Given the description of an element on the screen output the (x, y) to click on. 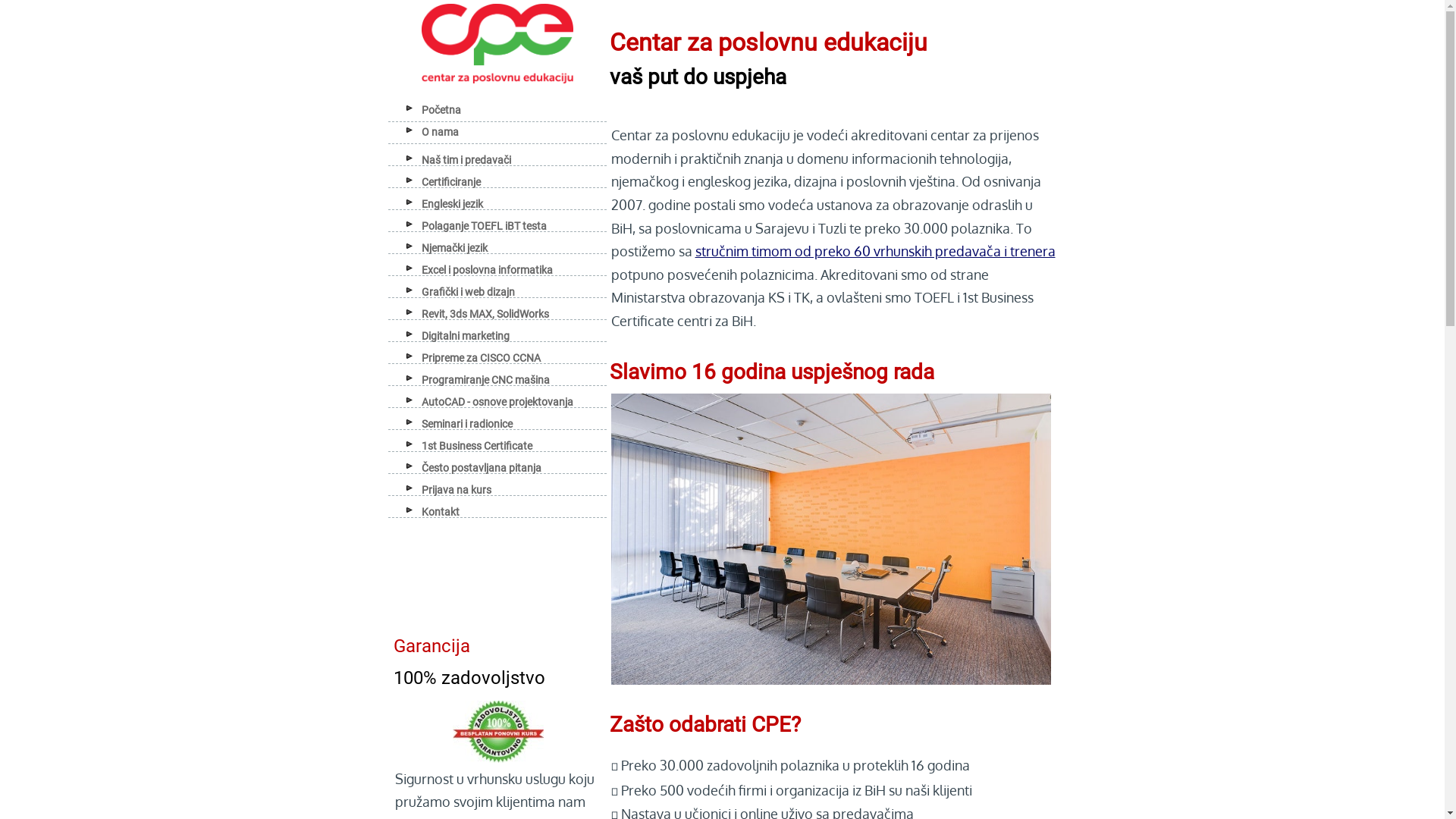
Seminari i radionice Element type: text (463, 423)
Pripreme za CISCO CCNA Element type: text (477, 357)
O nama Element type: text (436, 131)
Prijava na kurs Element type: text (453, 489)
Kontakt Element type: text (437, 511)
AutoCAD - osnove projektovanja Element type: text (494, 401)
Excel i poslovna informatika Element type: text (483, 269)
Revit, 3ds MAX, SolidWorks Element type: text (482, 313)
Digitalni marketing Element type: text (462, 335)
1st Business Certificate Element type: text (473, 445)
Engleski jezik Element type: text (449, 203)
Polaganje TOEFL iBT testa Element type: text (480, 225)
Certificiranje Element type: text (447, 181)
